Given the description of an element on the screen output the (x, y) to click on. 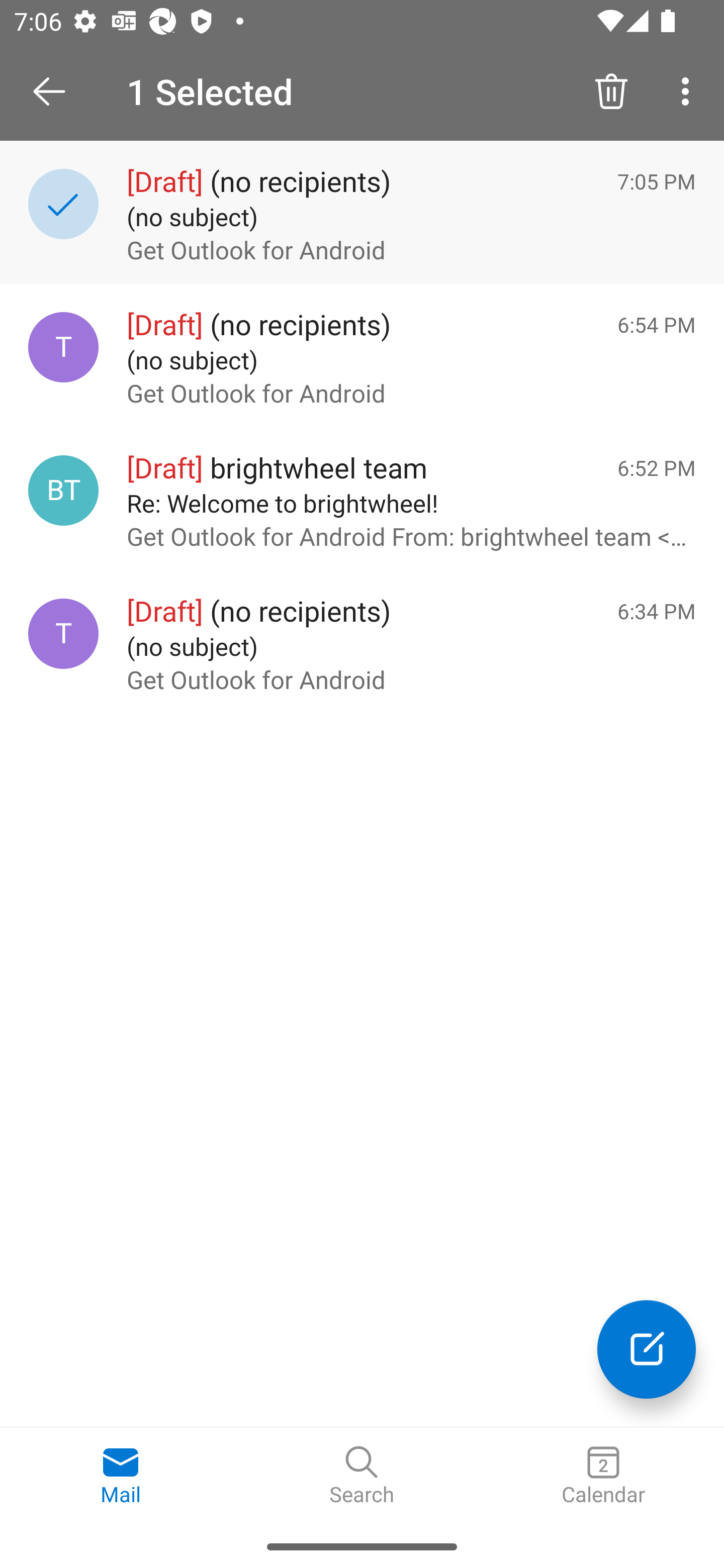
Delete (611, 90)
More options (688, 90)
Open Navigation Drawer (55, 91)
testappium001@outlook.com (63, 347)
brightwheel team, testappium001@outlook.com (63, 489)
testappium001@outlook.com (63, 633)
Compose (646, 1348)
Search (361, 1475)
Calendar (603, 1475)
